Given the description of an element on the screen output the (x, y) to click on. 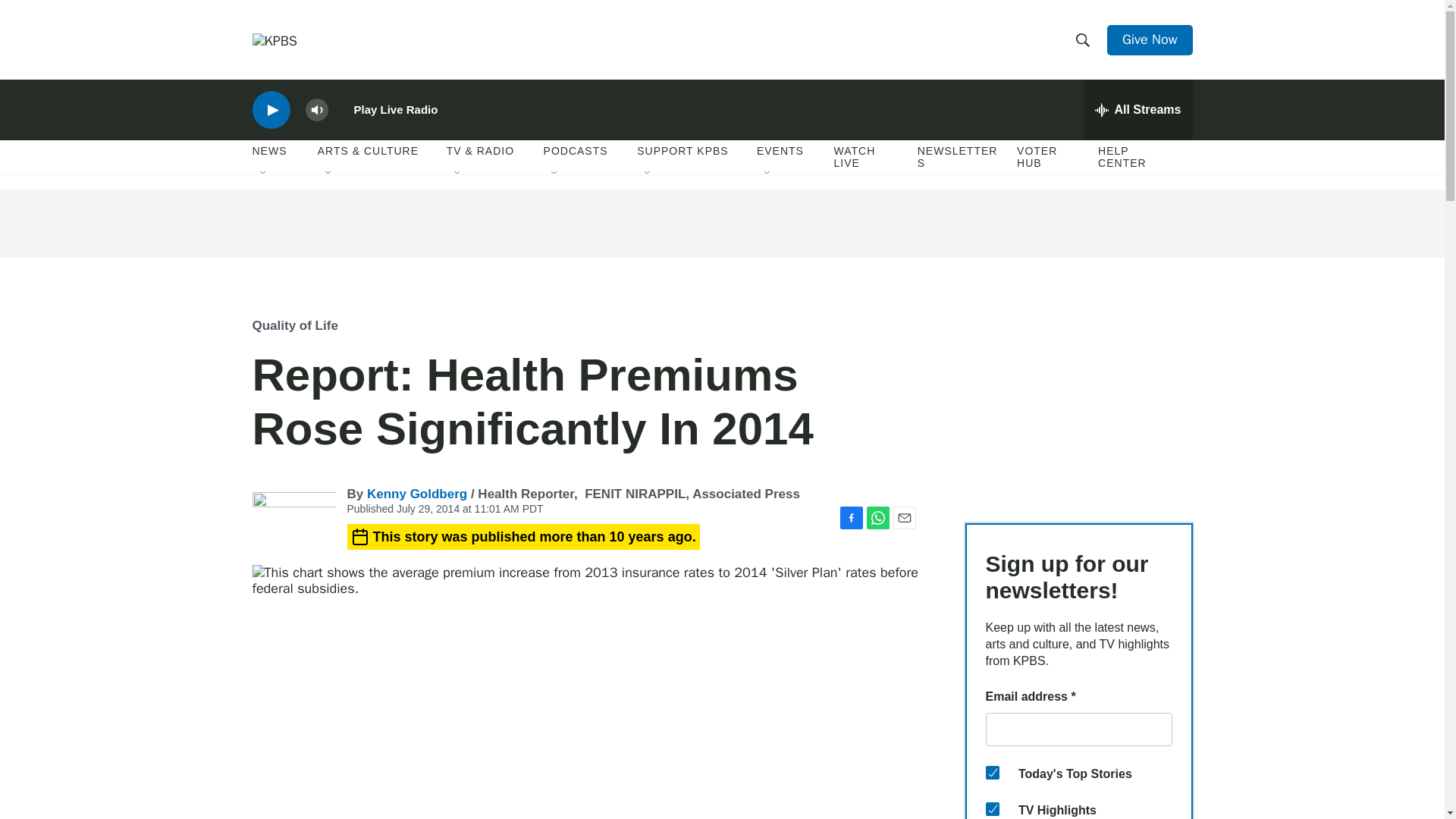
4 (991, 772)
5 (991, 808)
